Given the description of an element on the screen output the (x, y) to click on. 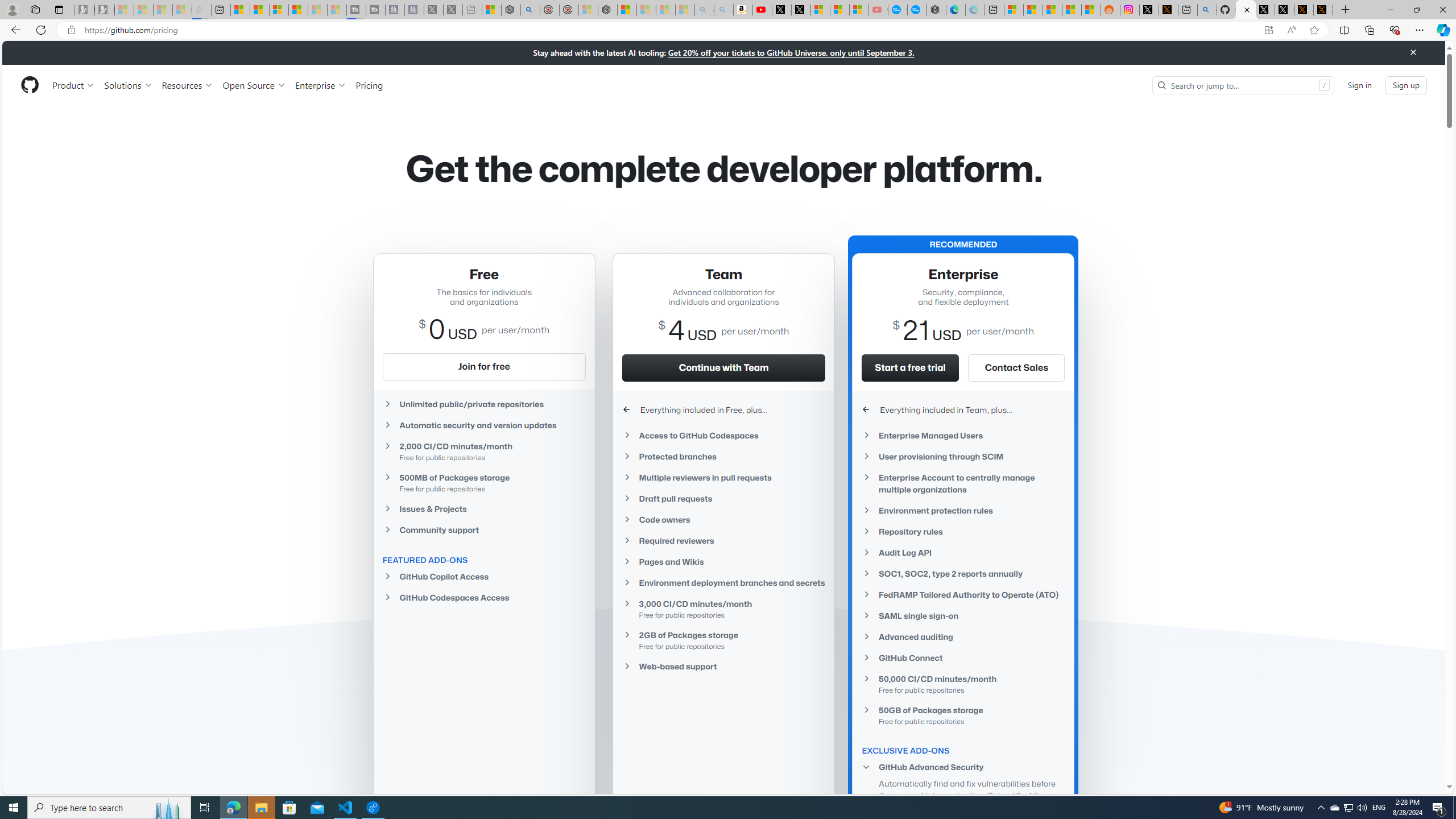
2,000 CI/CD minutes/month Free for public repositories (483, 451)
Web-based support (723, 666)
Automatic security and version updates (483, 425)
Sign up (1406, 84)
500MB of Packages storageFree for public repositories (483, 482)
Everything included in Team, plus... (963, 409)
Nordace - Summer Adventures 2024 (510, 9)
Unlimited public/private repositories (483, 404)
Required reviewers (723, 540)
